Given the description of an element on the screen output the (x, y) to click on. 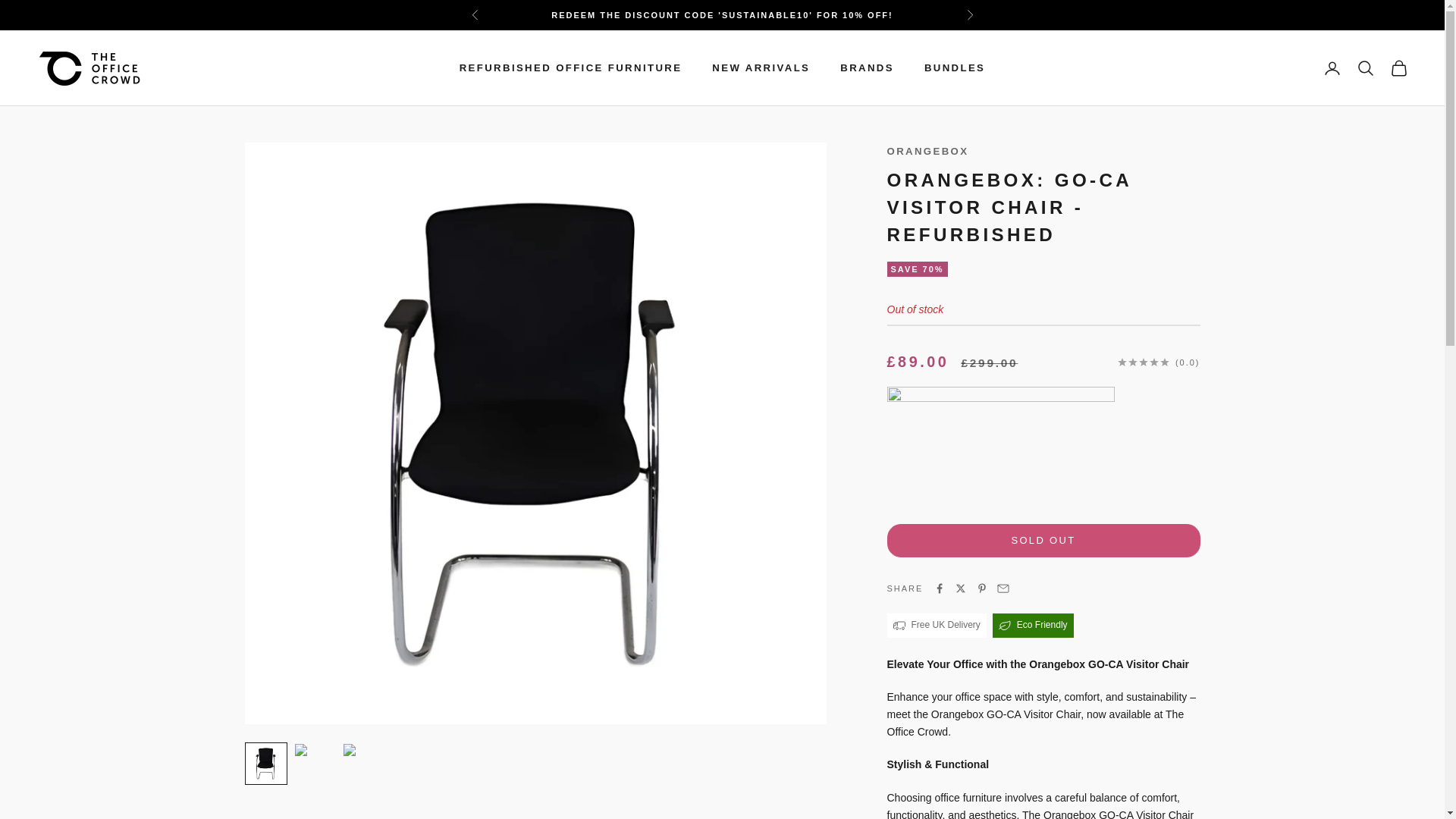
BRANDS (866, 67)
No reviews (1158, 361)
BUNDLES (954, 67)
Open cart (1398, 67)
The Office Crowd (89, 67)
Open search (1365, 67)
Open account page (1331, 67)
NEW ARRIVALS (760, 67)
